Given the description of an element on the screen output the (x, y) to click on. 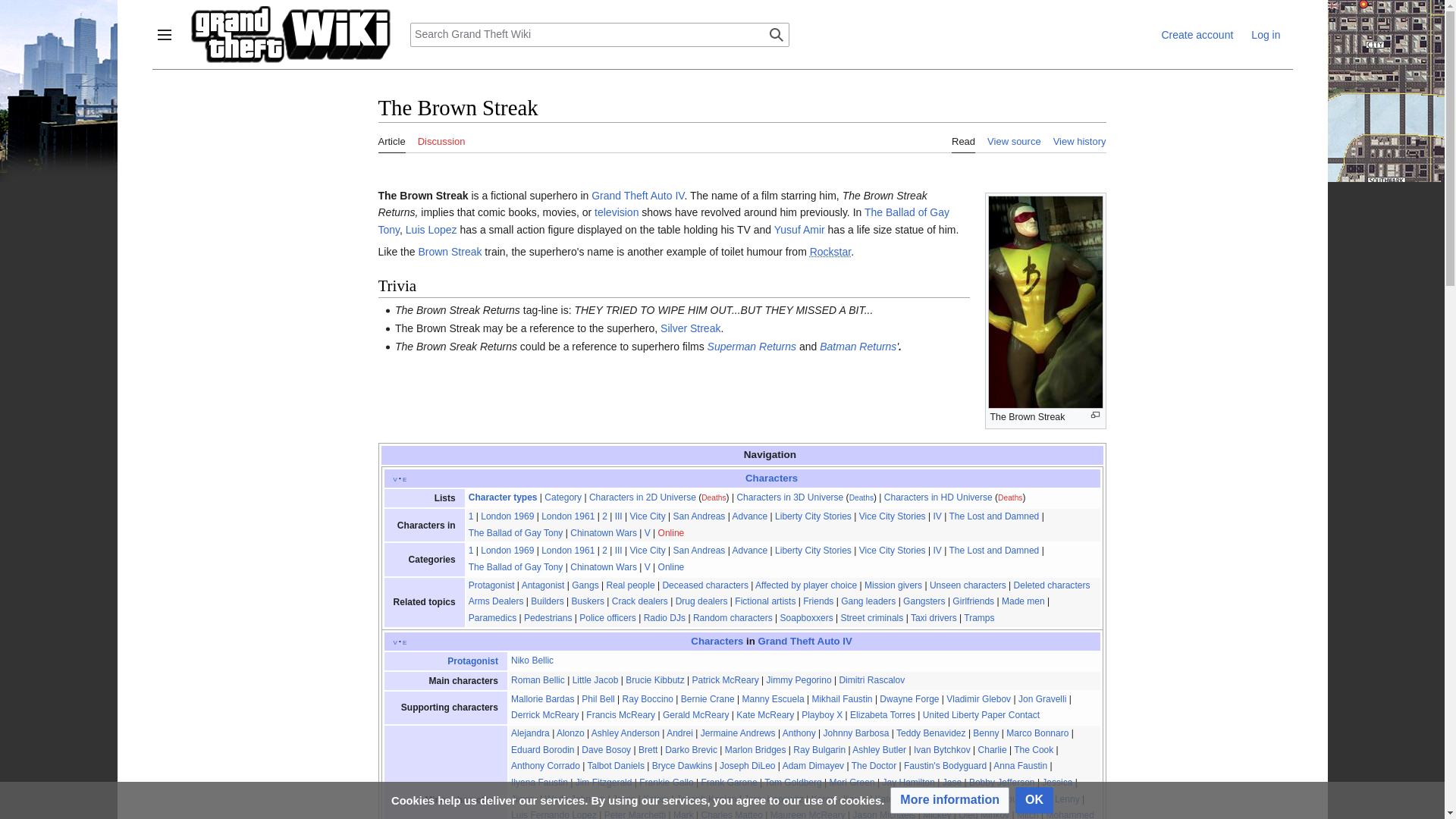
Search (776, 34)
Go (776, 34)
Search pages for this text (776, 34)
Log in (1264, 34)
Go (776, 34)
Search (776, 34)
Search (776, 34)
Main menu (163, 34)
Create account (1196, 34)
